Given the description of an element on the screen output the (x, y) to click on. 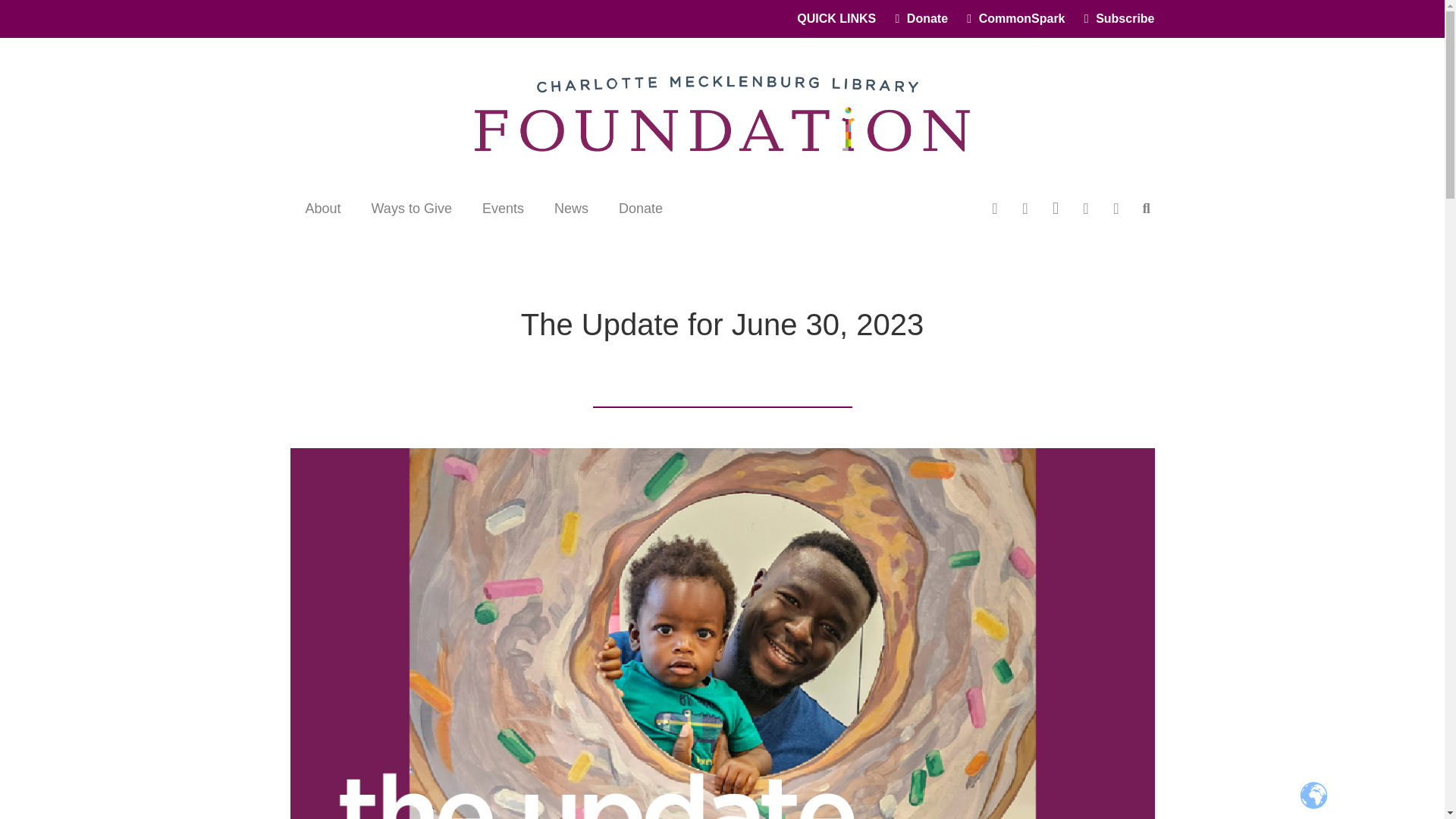
About (322, 208)
Subscribe (1119, 18)
Ways to Give (411, 208)
Donate (641, 208)
Twitter (1025, 208)
YouTube (1085, 208)
LinkedIn (1115, 208)
Events (502, 208)
CommonSpark (1015, 18)
News (571, 208)
Instagram (1055, 208)
Facebook (994, 208)
Donate (921, 18)
